Given the description of an element on the screen output the (x, y) to click on. 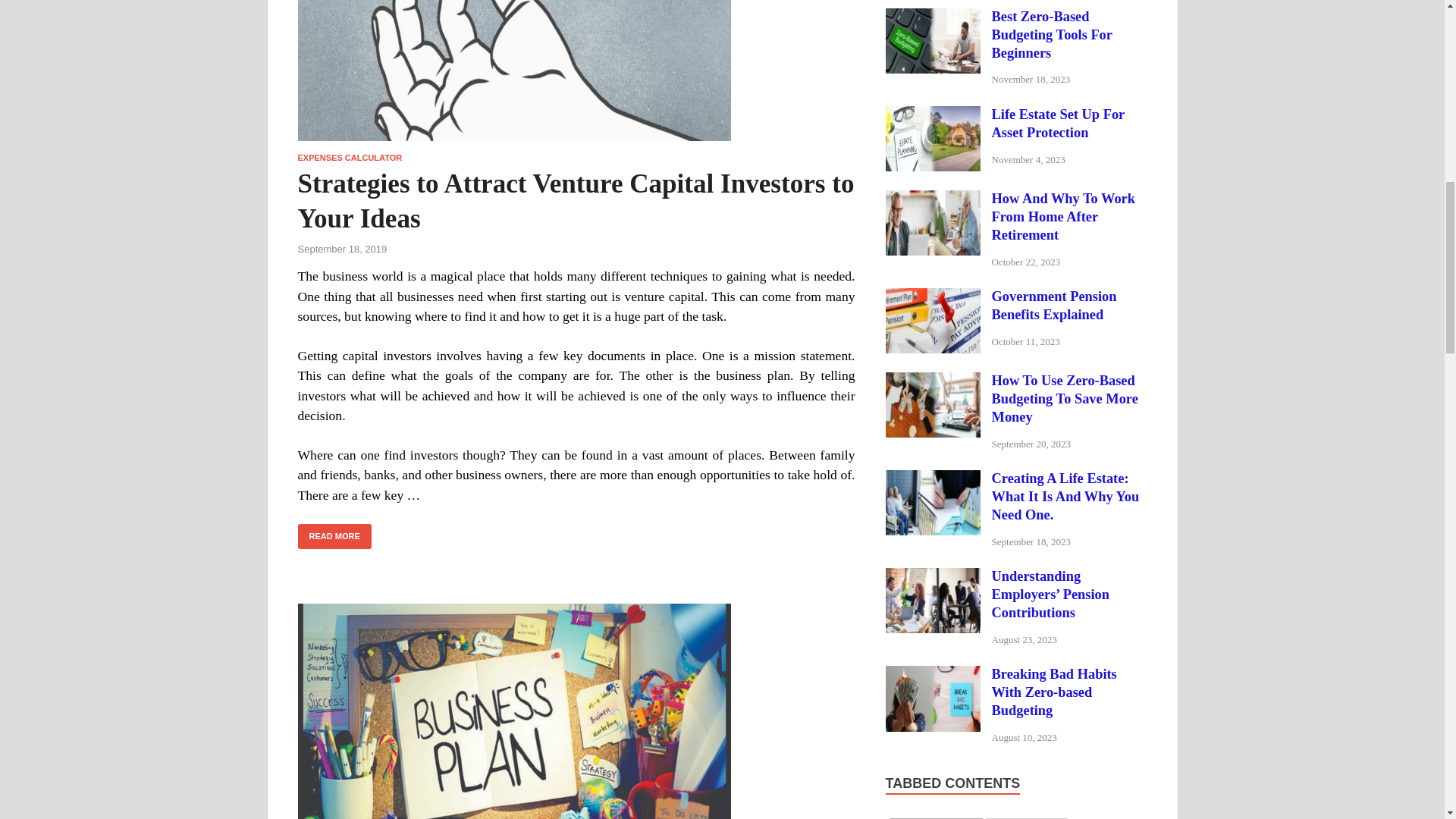
Government Pension Benefits Explained (932, 297)
Funding Options to Venture Capital (575, 711)
How To Use Zero-Based Budgeting To Save More Money (932, 381)
Creating A Life Estate: What It Is And Why You Need One. (932, 479)
Best Zero-Based Budgeting Tools For Beginners (932, 17)
How And Why To Work From Home After Retirement (932, 200)
Life Estate Set Up For Asset Protection (932, 115)
Breaking Bad Habits With Zero-based Budgeting (932, 675)
